Given the description of an element on the screen output the (x, y) to click on. 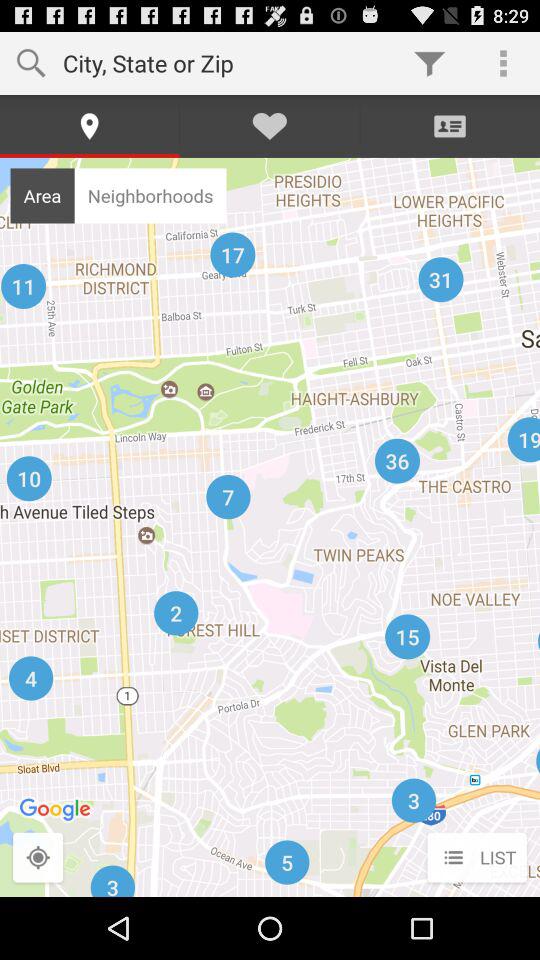
click the list button (476, 858)
